Given the description of an element on the screen output the (x, y) to click on. 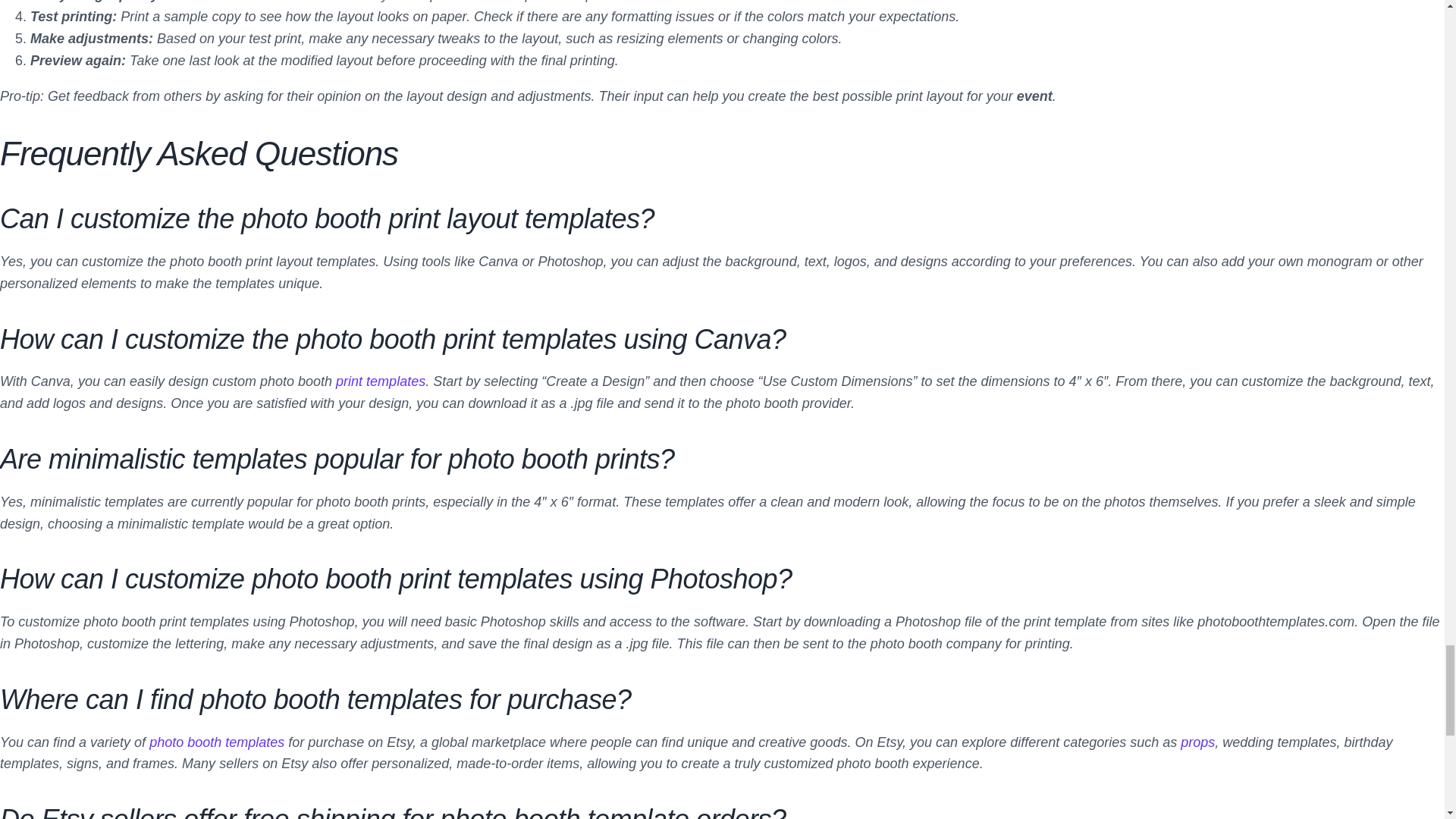
props (1197, 742)
props (1197, 742)
photo booth templates (216, 742)
print templates (380, 381)
print templates (380, 381)
photo booth templates (216, 742)
